Given the description of an element on the screen output the (x, y) to click on. 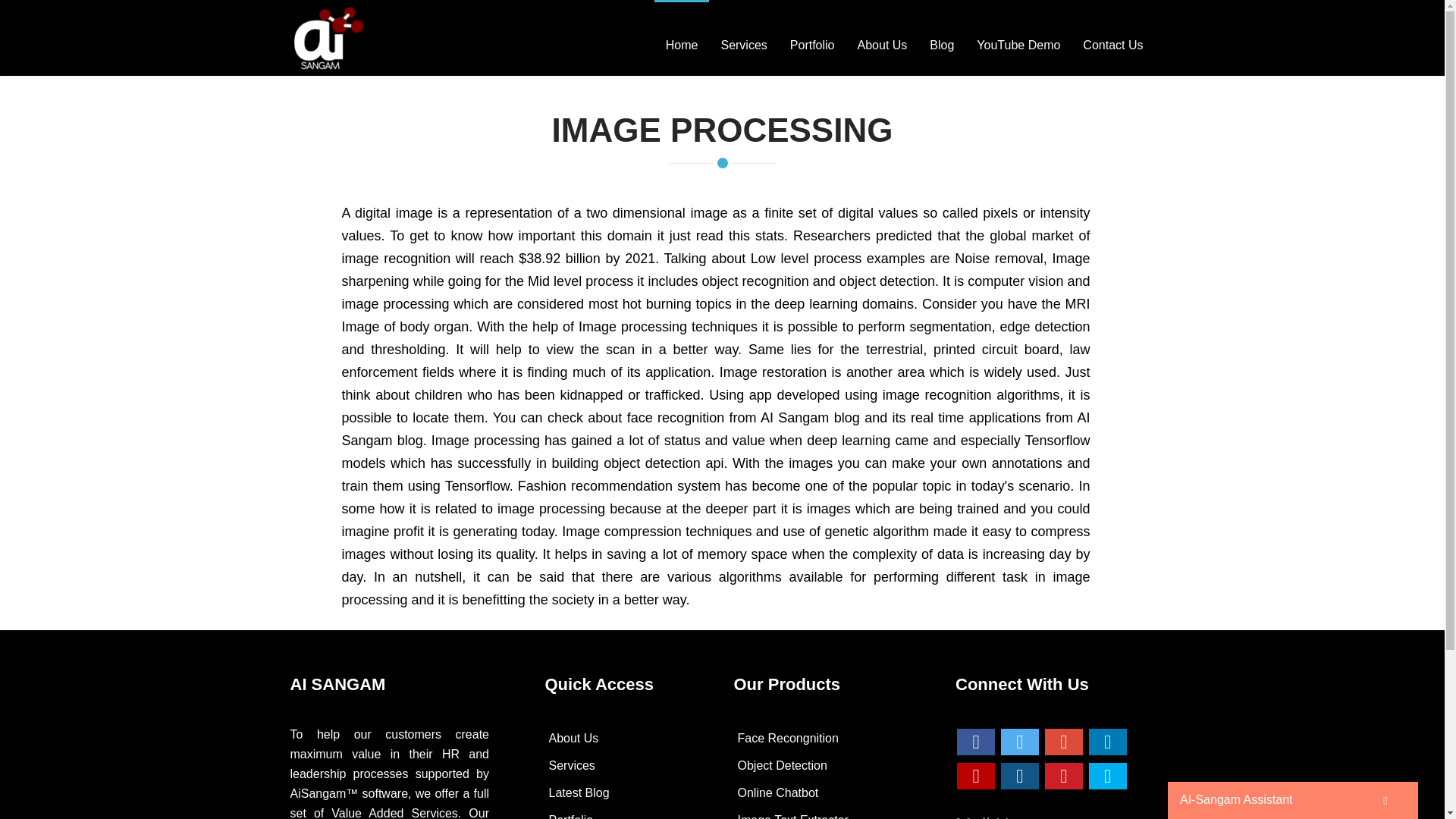
YouTube Demo (1018, 33)
Portfolio (811, 33)
Portfolio (811, 33)
About Us (881, 33)
About Us (627, 738)
Services (743, 33)
YouTube Demo (1018, 33)
Image Text Extractor (833, 812)
Services (743, 33)
Contact Us (1112, 33)
